Given the description of an element on the screen output the (x, y) to click on. 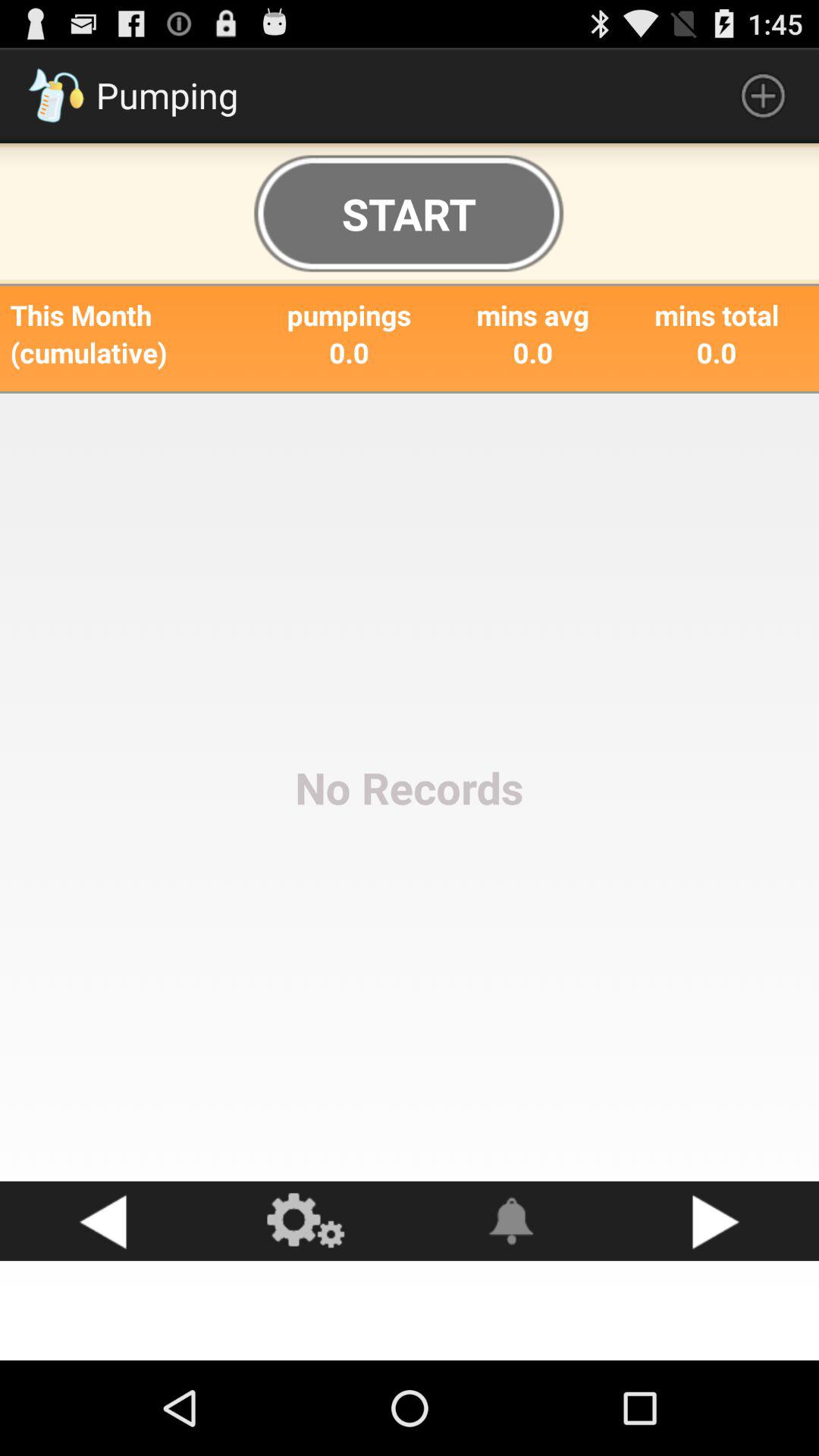
turn on alarm (511, 1220)
